Given the description of an element on the screen output the (x, y) to click on. 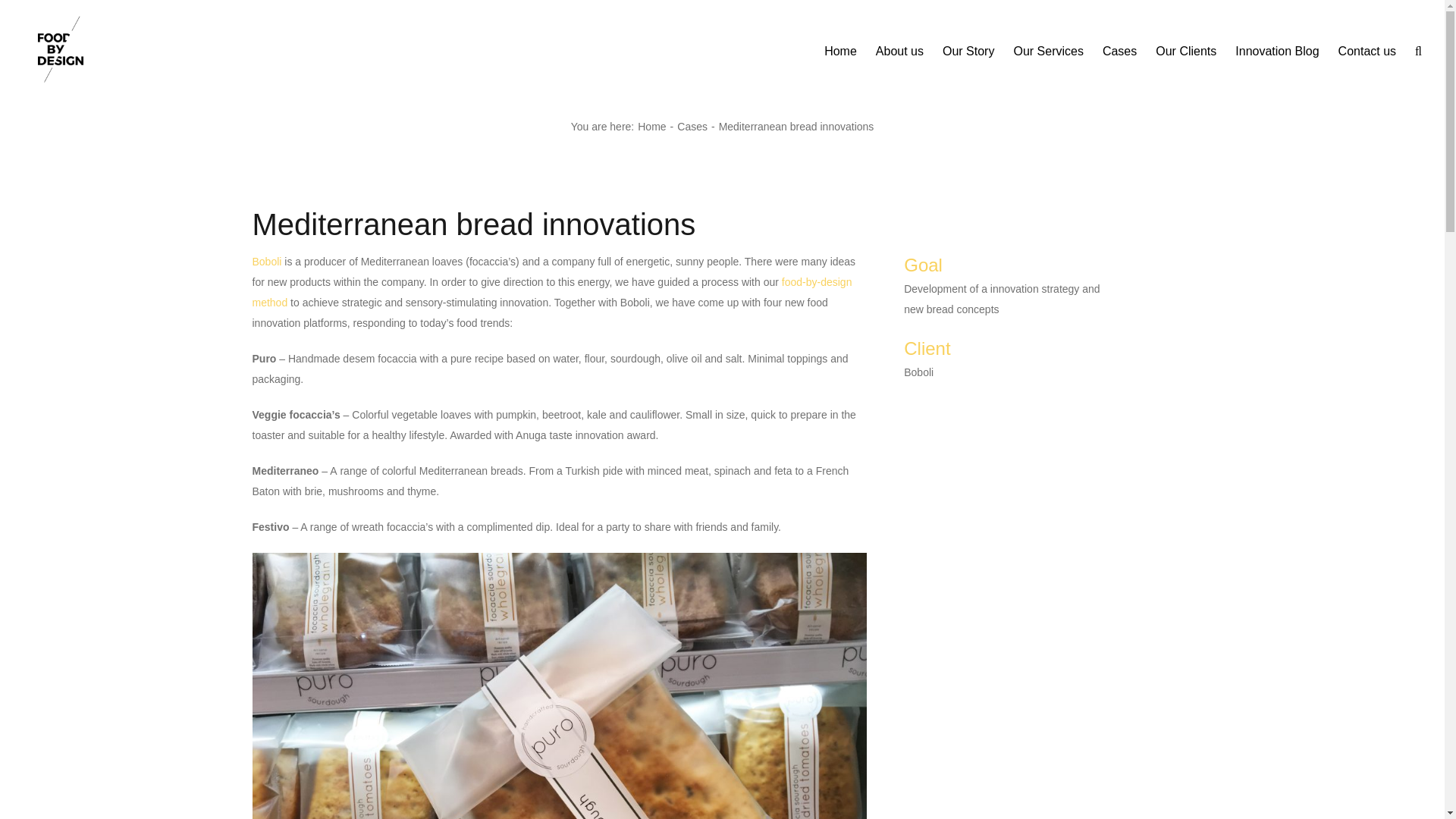
Our Story (968, 49)
food-by-design method (551, 292)
Our Clients (1185, 49)
Our Services (1048, 49)
Home (840, 49)
Cases (1119, 49)
Cases (692, 126)
Home (651, 126)
Boboli (266, 261)
Innovation Blog (1276, 49)
About us (899, 49)
Contact us (1367, 49)
